Given the description of an element on the screen output the (x, y) to click on. 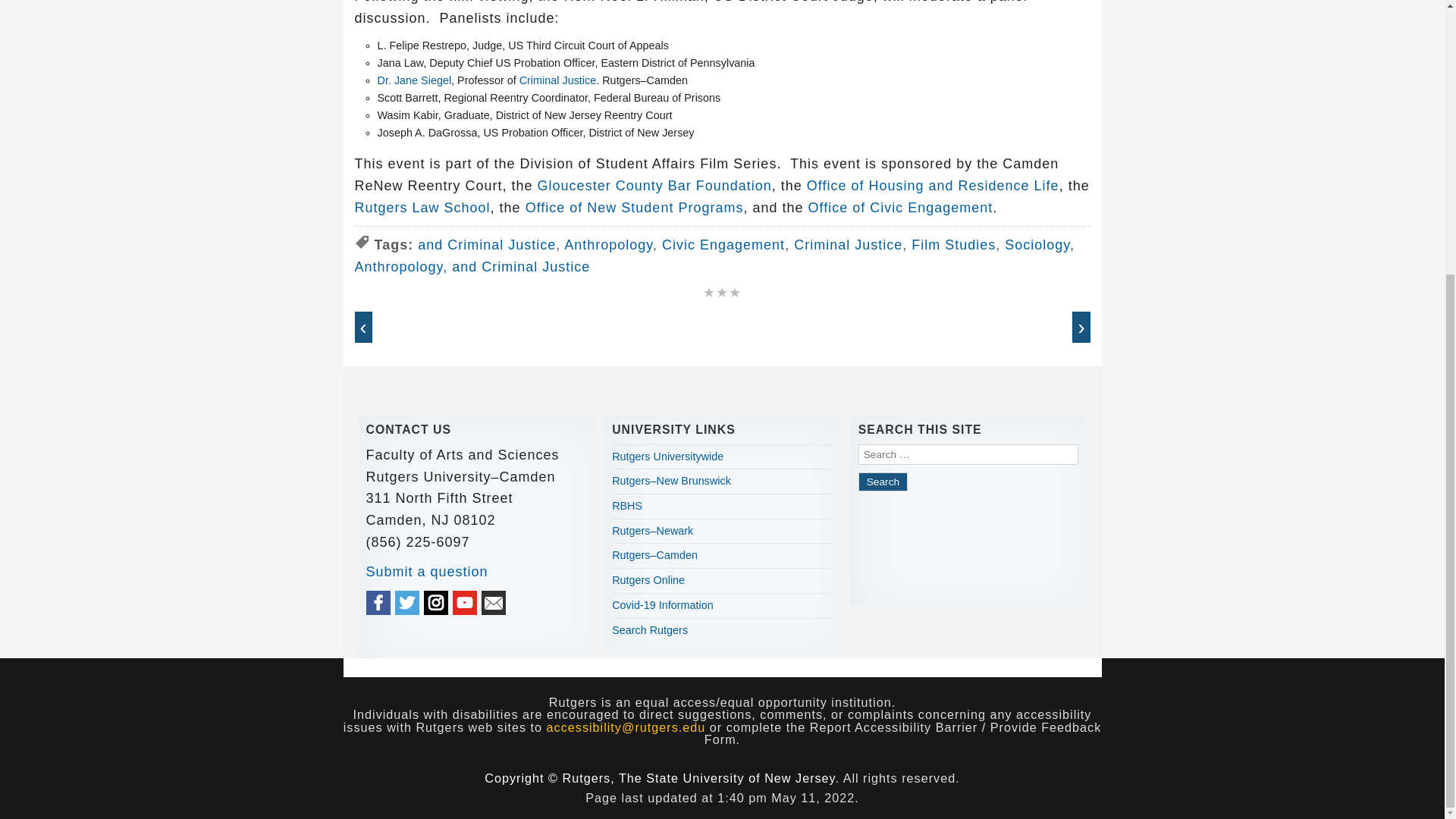
FAS Twitter (406, 602)
FAS Instagram (435, 602)
Search (883, 481)
Search (883, 481)
FAS Facebook Page (377, 602)
FAS YouTube Channel (464, 602)
